Given the description of an element on the screen output the (x, y) to click on. 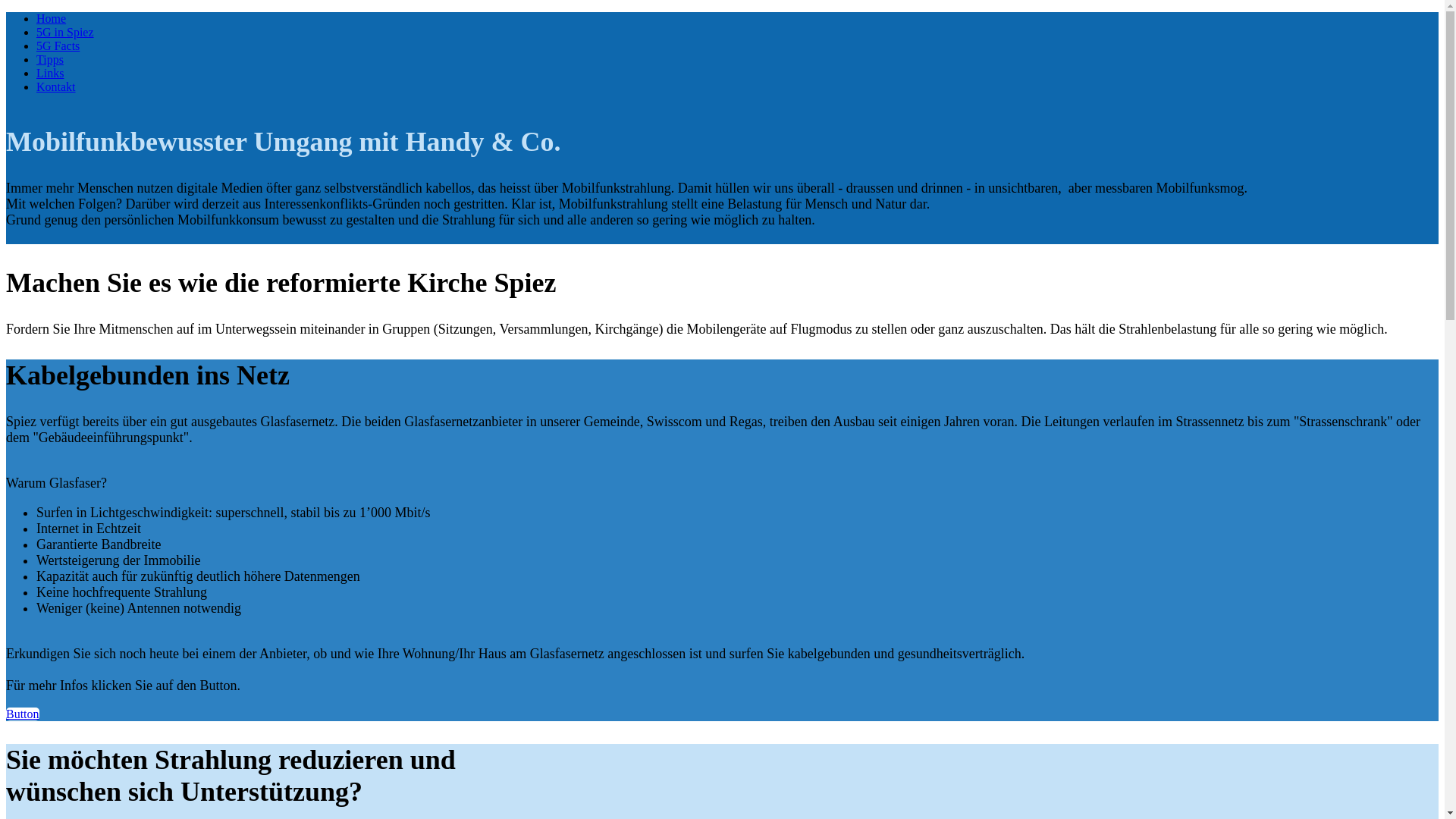
Kontakt Element type: text (55, 86)
Button Element type: text (22, 713)
5G in Spiez Element type: text (65, 31)
Tipps Element type: text (49, 59)
Home Element type: text (50, 18)
Links Element type: text (49, 72)
5G Facts Element type: text (57, 45)
